Given the description of an element on the screen output the (x, y) to click on. 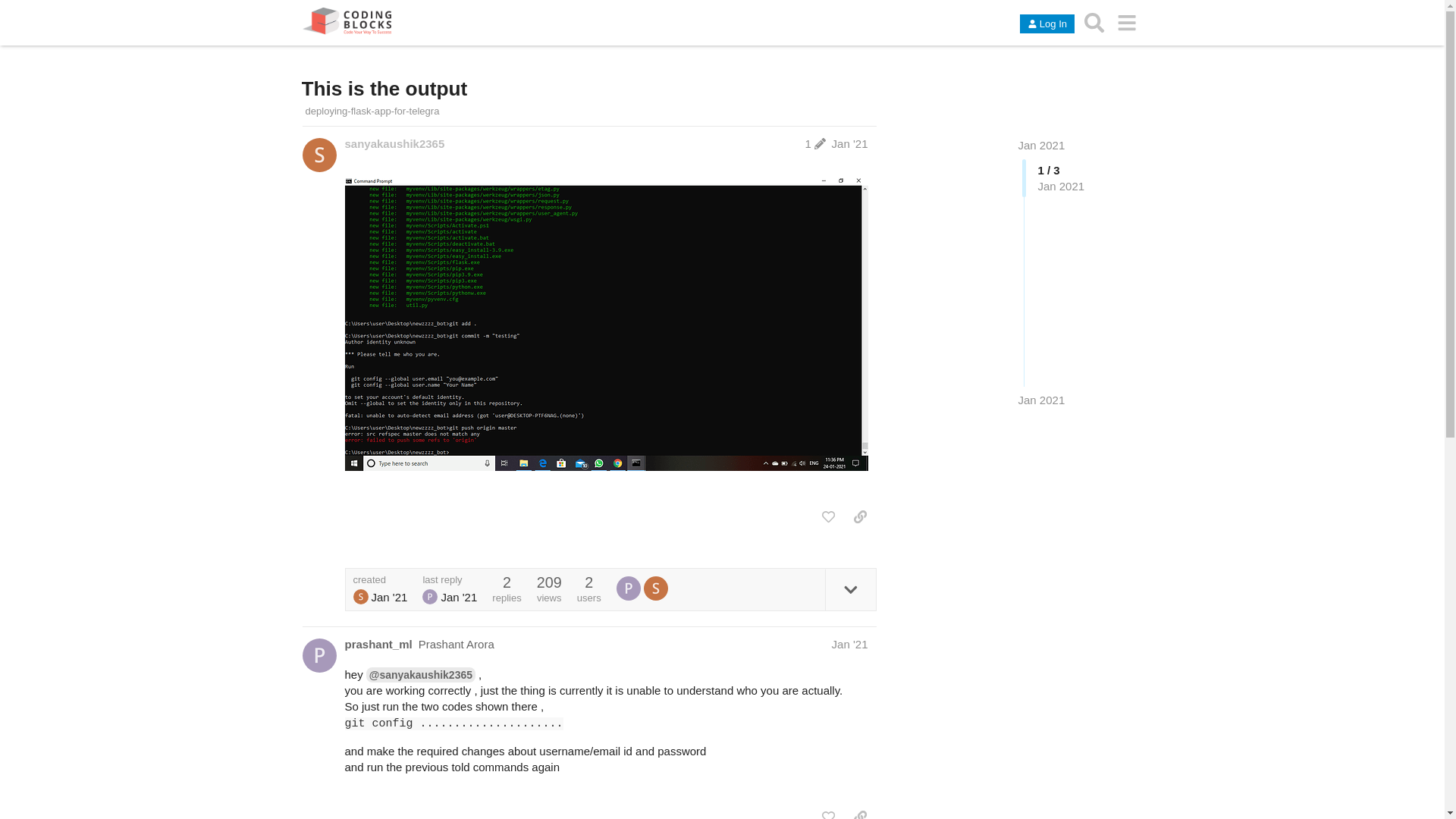
Log In (1047, 23)
Jan 2021 (1040, 399)
Jan 2021 (1040, 144)
Prashant Arora (627, 588)
go to another topic list or category (1126, 22)
1 (816, 143)
sanyakaushik2365 (393, 143)
Jan '21 (849, 644)
Jan '21 (849, 143)
Sanyakaushik2365 (318, 154)
